Given the description of an element on the screen output the (x, y) to click on. 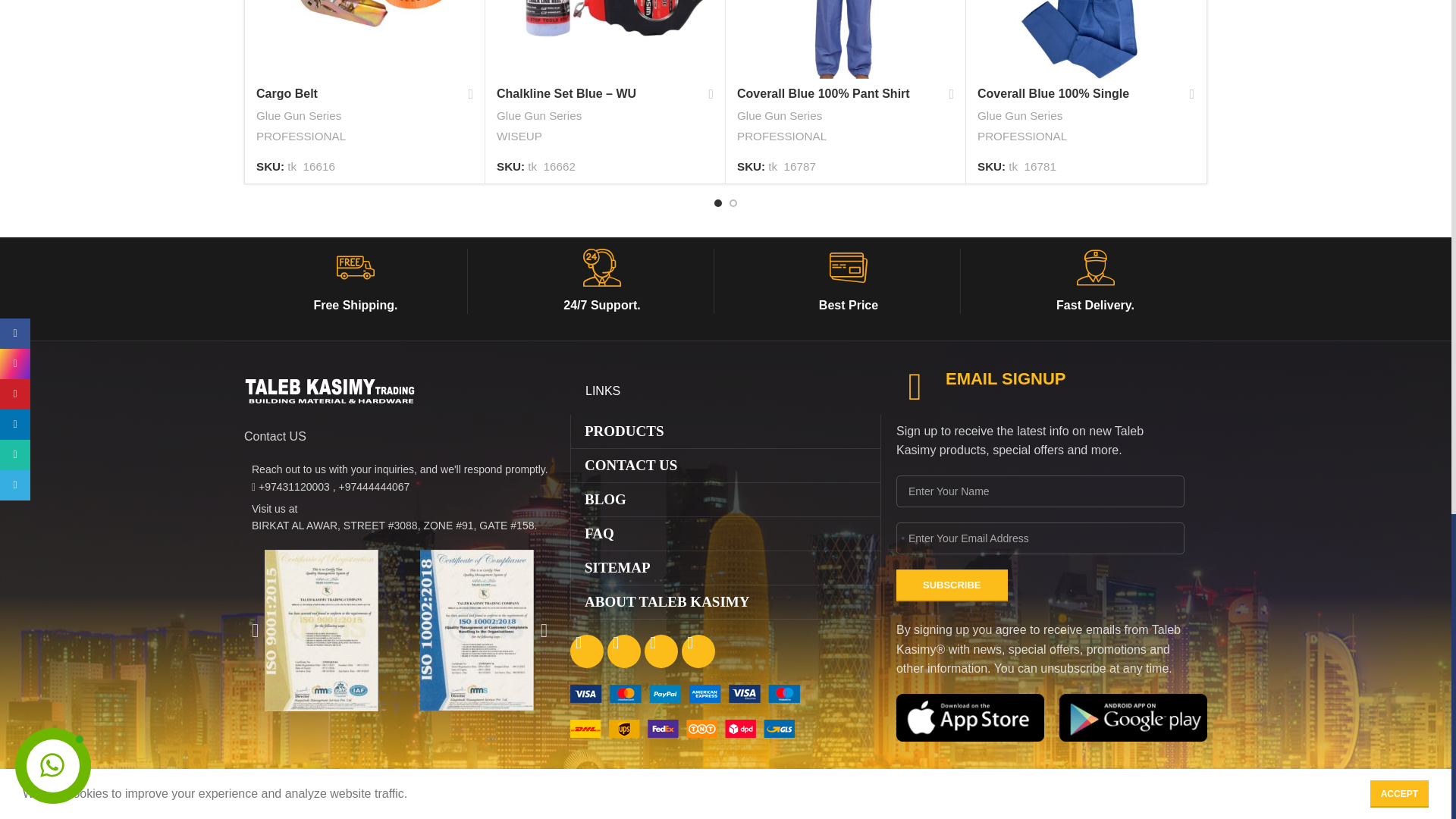
retail-delivery-man.svg (1096, 267)
retail-247.svg (602, 267)
Subscribe (951, 585)
retail-payment.svg (848, 267)
retail-free-shipping.svg (355, 267)
